Given the description of an element on the screen output the (x, y) to click on. 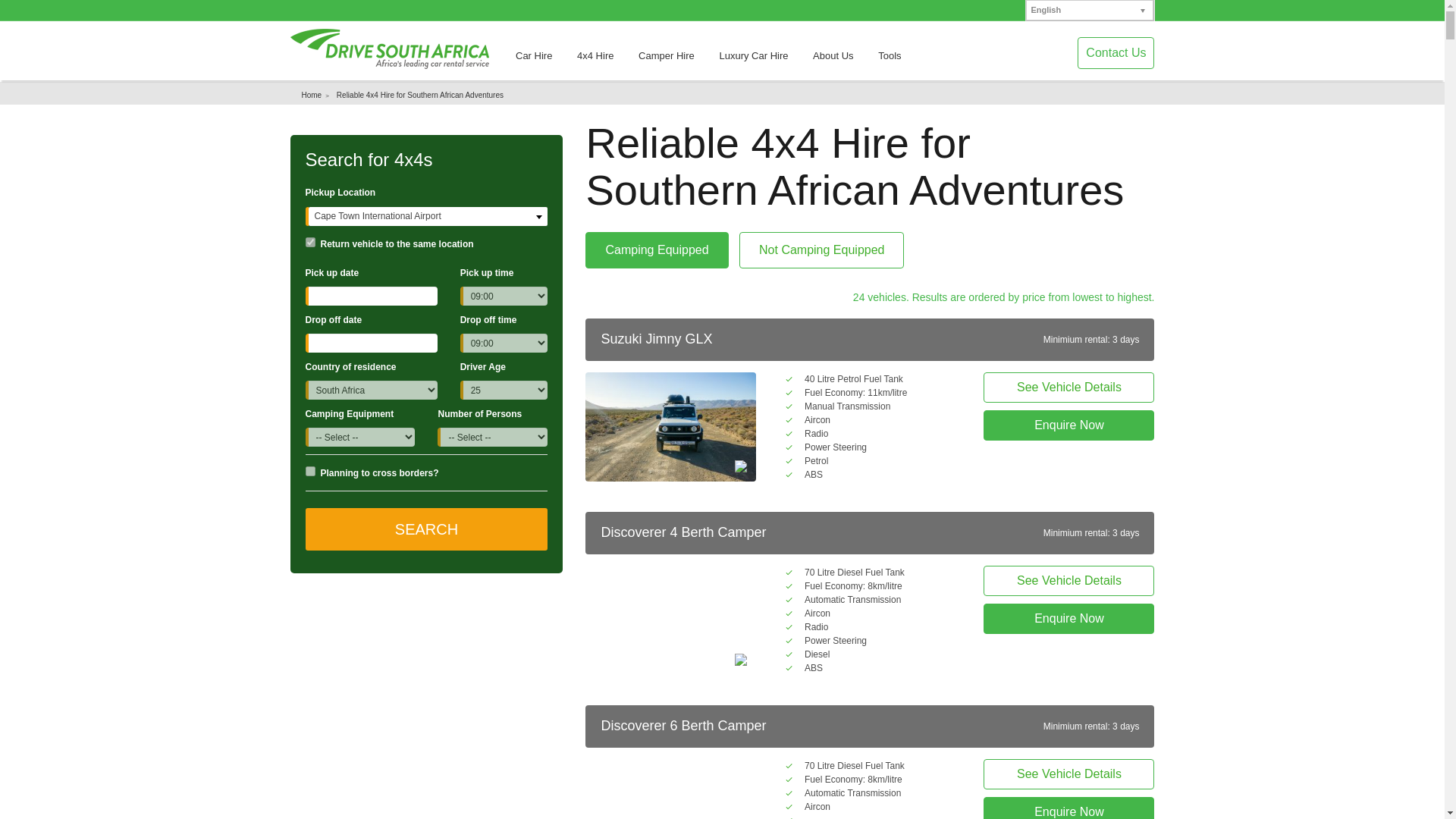
on (309, 470)
Drive South Africa (388, 48)
Search (425, 528)
Car Hire (541, 61)
Camper Hire (672, 61)
English (1089, 10)
4x4 Hire (602, 61)
on (309, 242)
